Given the description of an element on the screen output the (x, y) to click on. 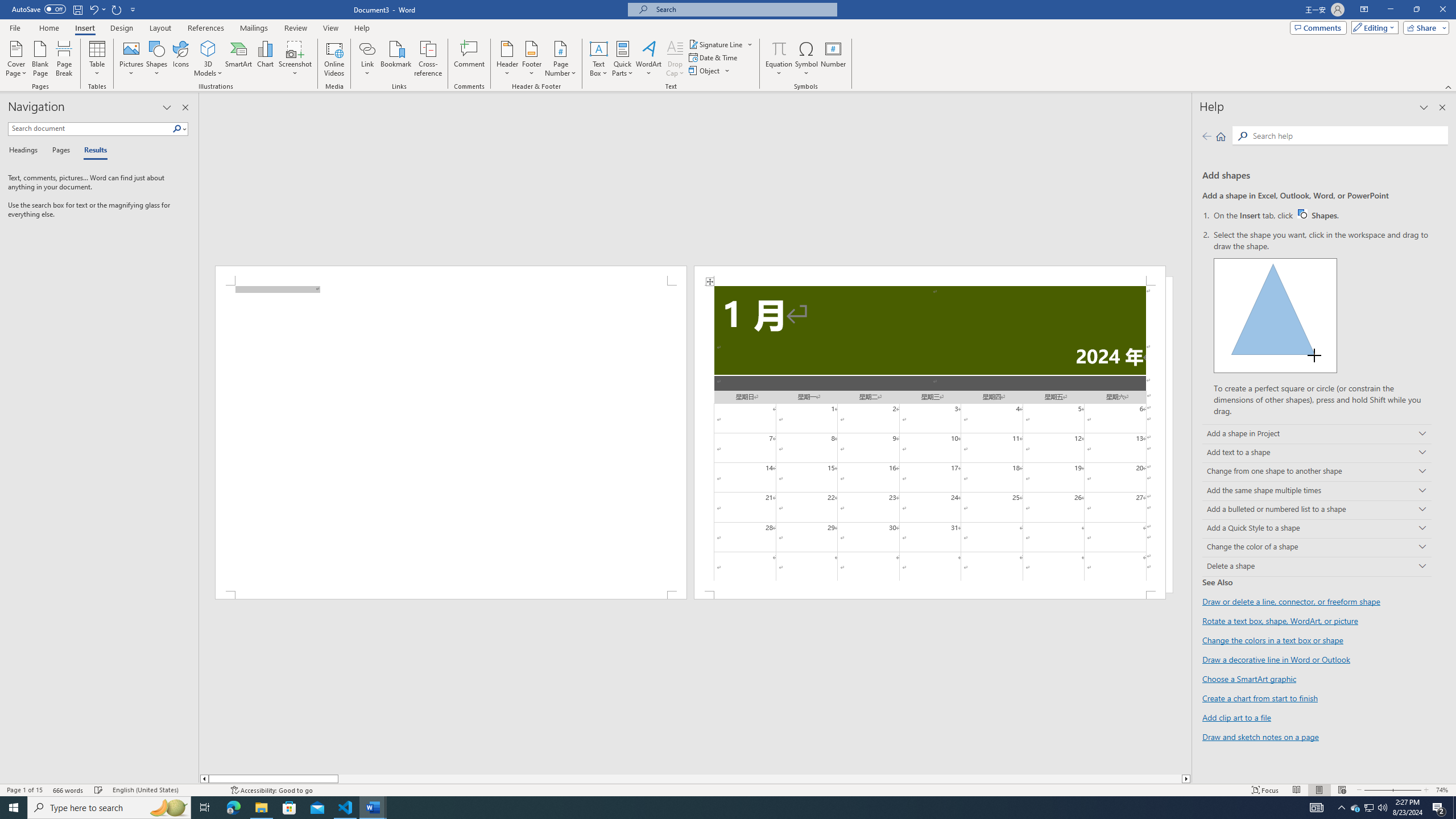
Signature Line (716, 44)
Cover Page (16, 58)
Page Number (560, 58)
